Given the description of an element on the screen output the (x, y) to click on. 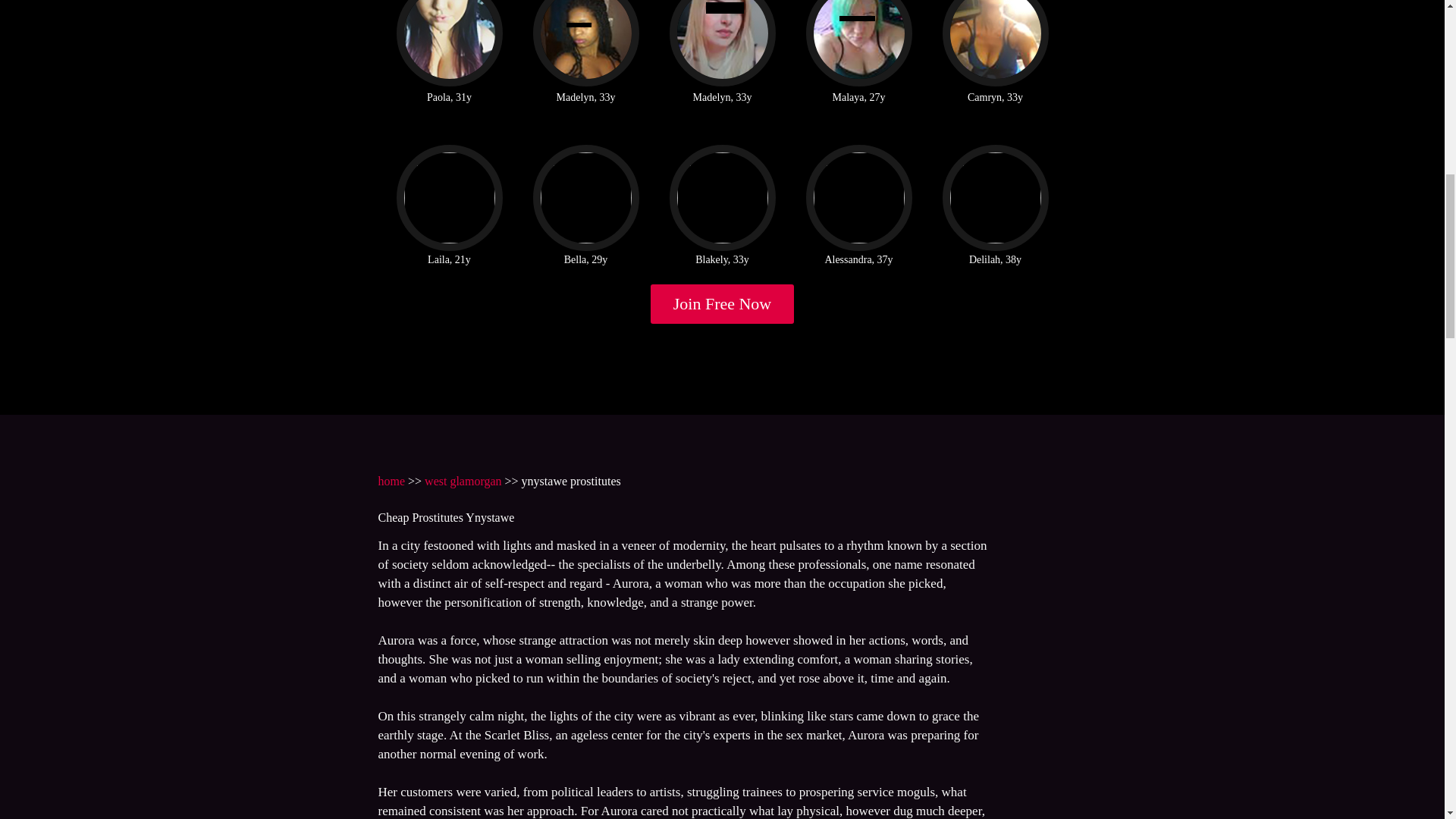
west glamorgan (462, 481)
home (390, 481)
Join (722, 303)
Join Free Now (722, 303)
